Given the description of an element on the screen output the (x, y) to click on. 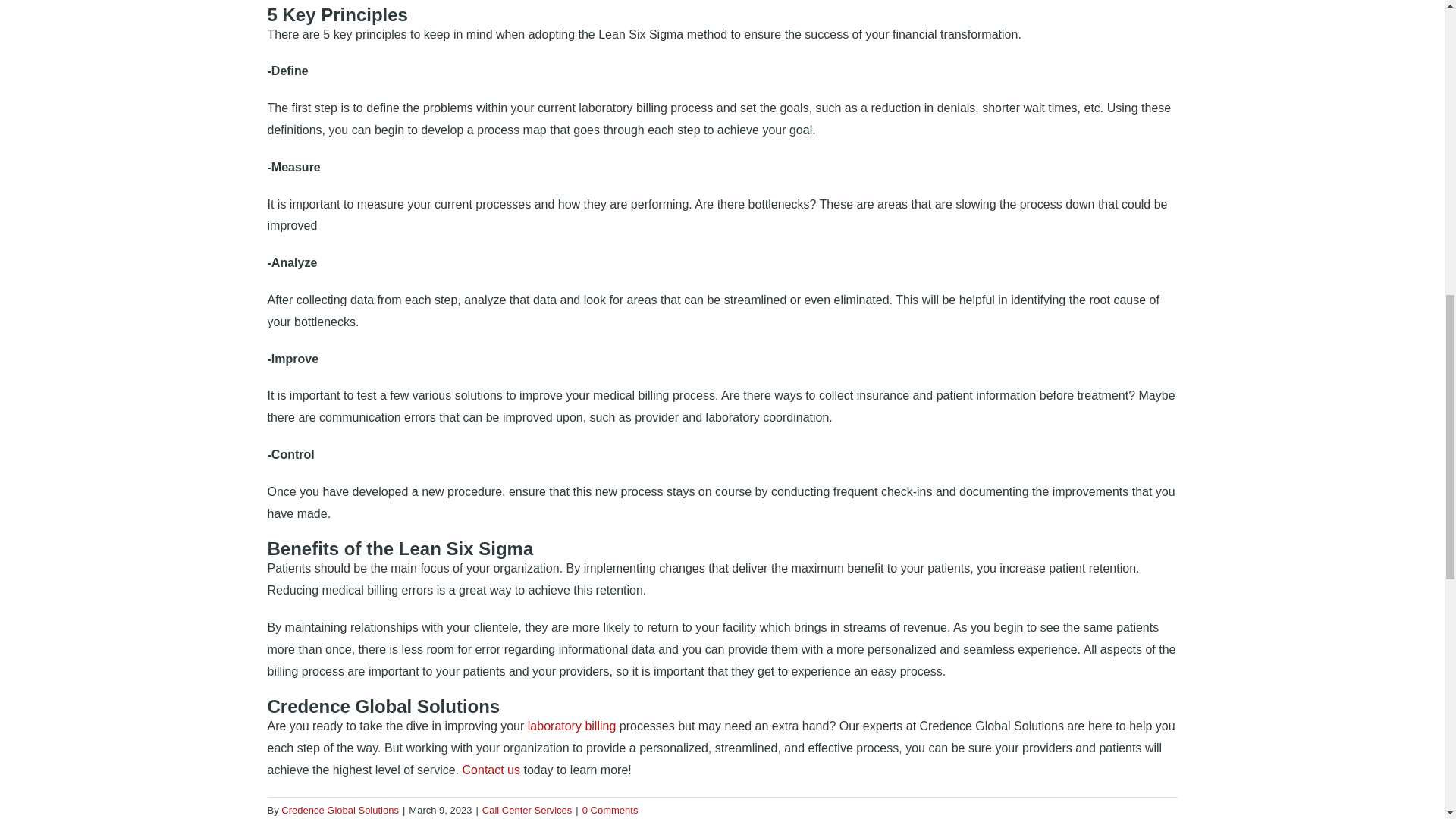
Credence Global Solutions (339, 809)
Call Center Services (526, 809)
Posts by Credence Global Solutions (339, 809)
Contact us (491, 769)
laboratory billing (571, 725)
0 Comments (610, 809)
